Given the description of an element on the screen output the (x, y) to click on. 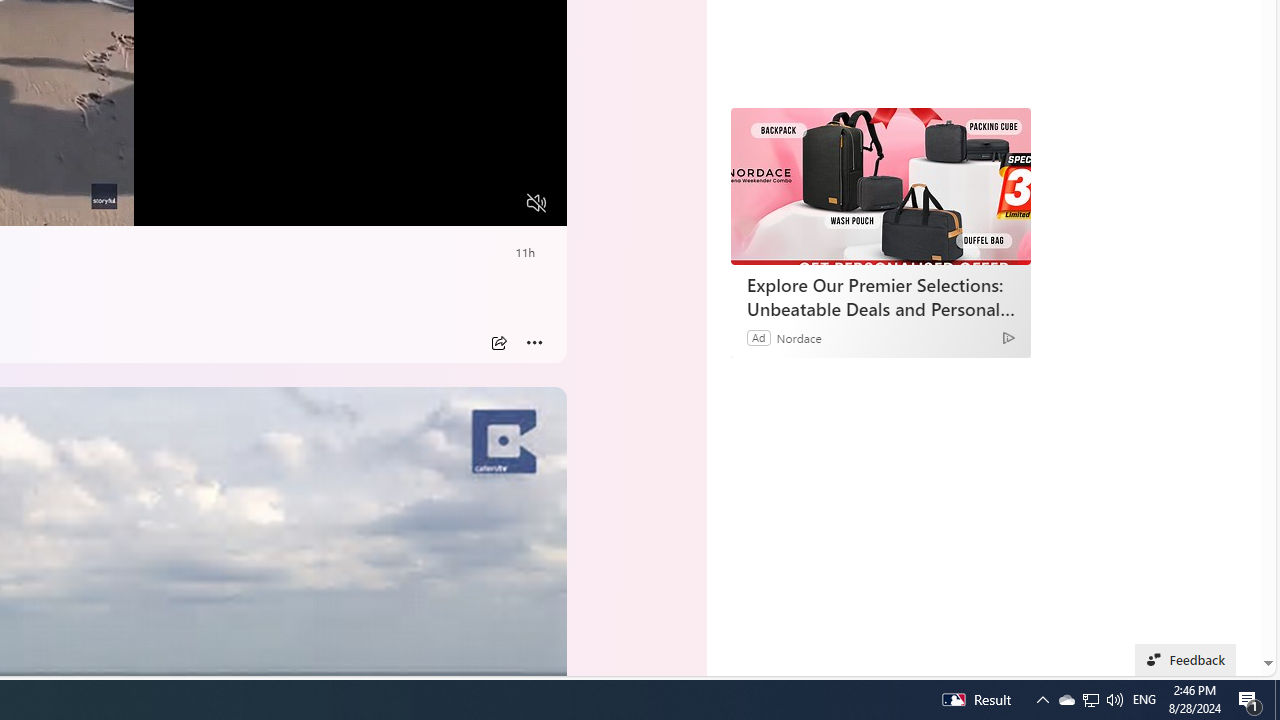
Fullscreen (497, 203)
Ad Choice (1008, 336)
Ad (758, 337)
Feedback (1185, 659)
More (534, 343)
Quality Settings (418, 203)
Captions (457, 203)
Unmute (535, 203)
Share (498, 343)
Share (498, 343)
More (534, 343)
